Given the description of an element on the screen output the (x, y) to click on. 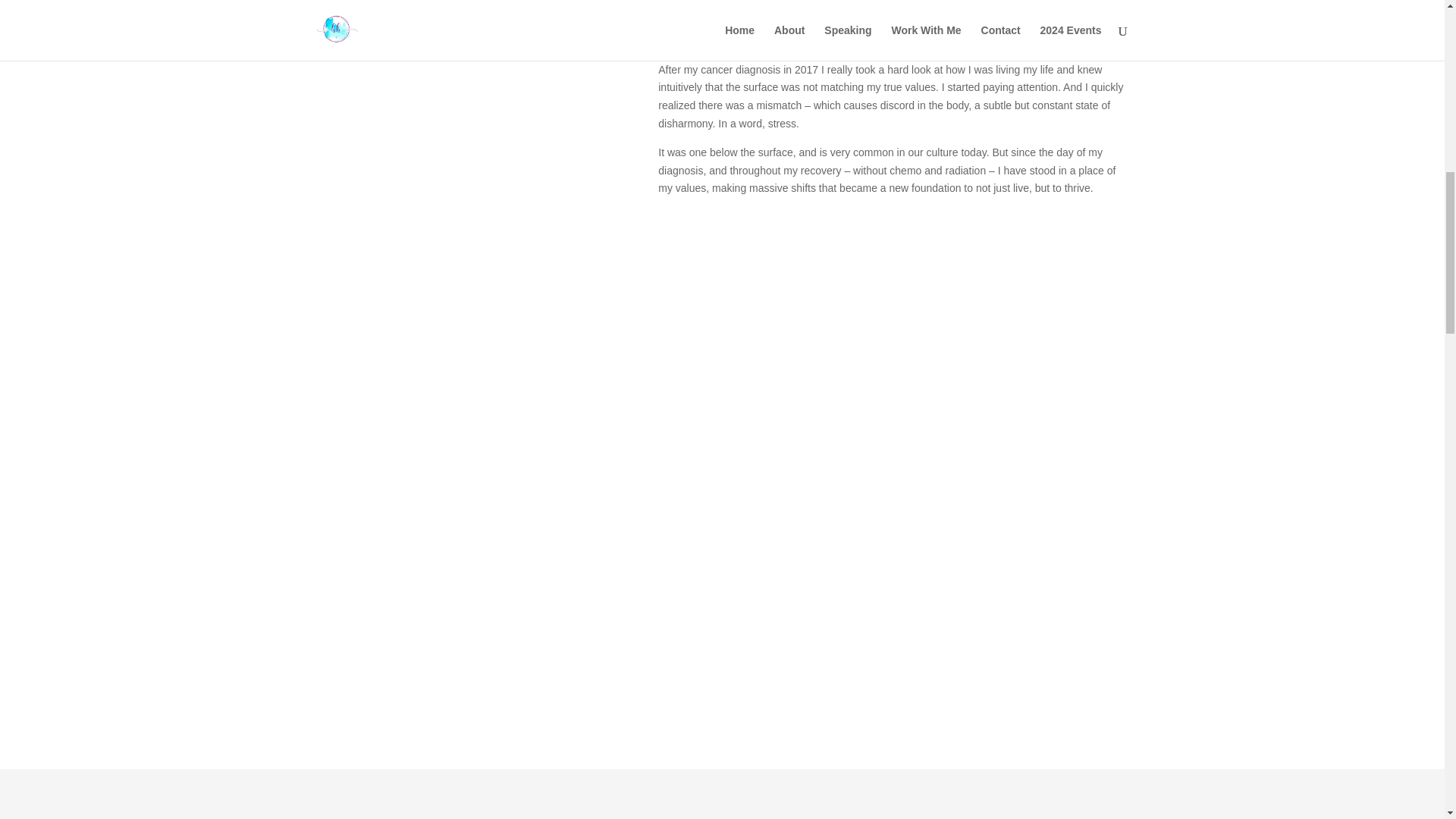
Healthy By Heart Introduction (462, 73)
